Given the description of an element on the screen output the (x, y) to click on. 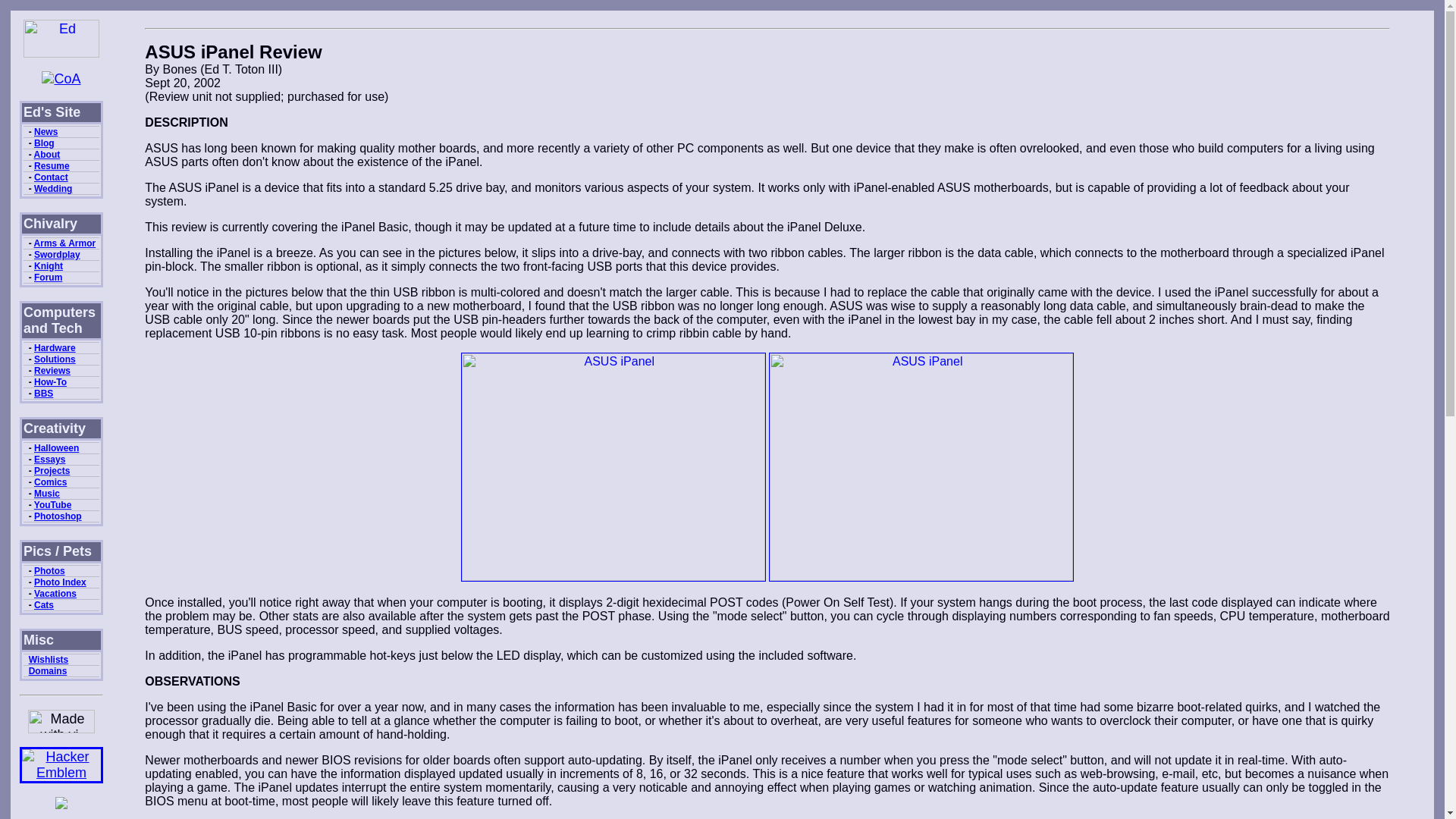
About (47, 154)
Reviews (51, 370)
Resume (51, 165)
YouTube (52, 504)
Projects (51, 470)
Wedding (52, 188)
Cats (43, 604)
How-To (49, 381)
BBS (42, 393)
Contact (50, 176)
Comics (49, 481)
News (45, 131)
Forum (47, 276)
Swordplay (56, 254)
Photo Index (59, 582)
